Given the description of an element on the screen output the (x, y) to click on. 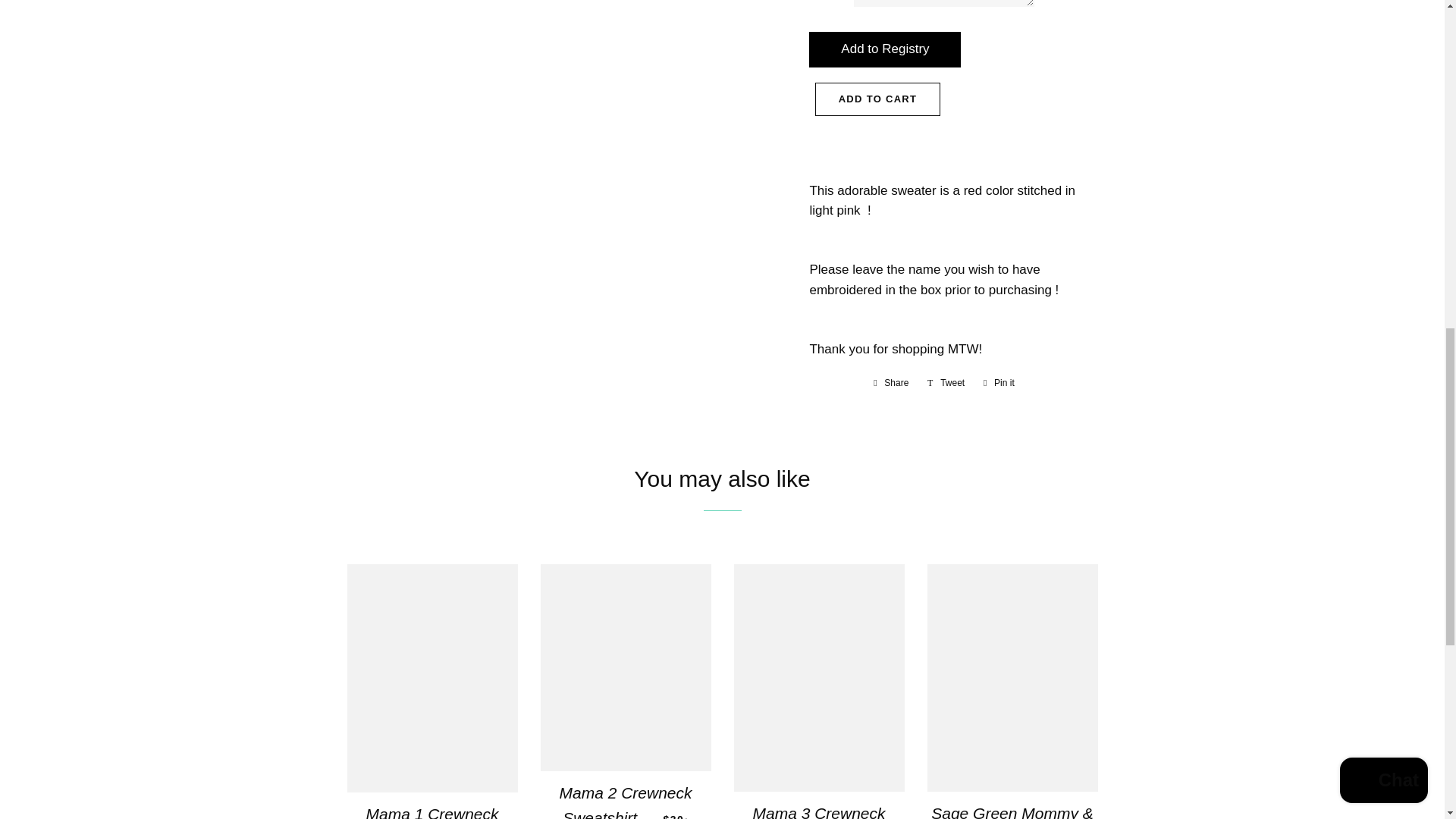
ADD TO CART (877, 99)
Pin on Pinterest (998, 382)
Share on Facebook (890, 382)
Add to Registry (998, 382)
Tweet on Twitter (946, 382)
